Given the description of an element on the screen output the (x, y) to click on. 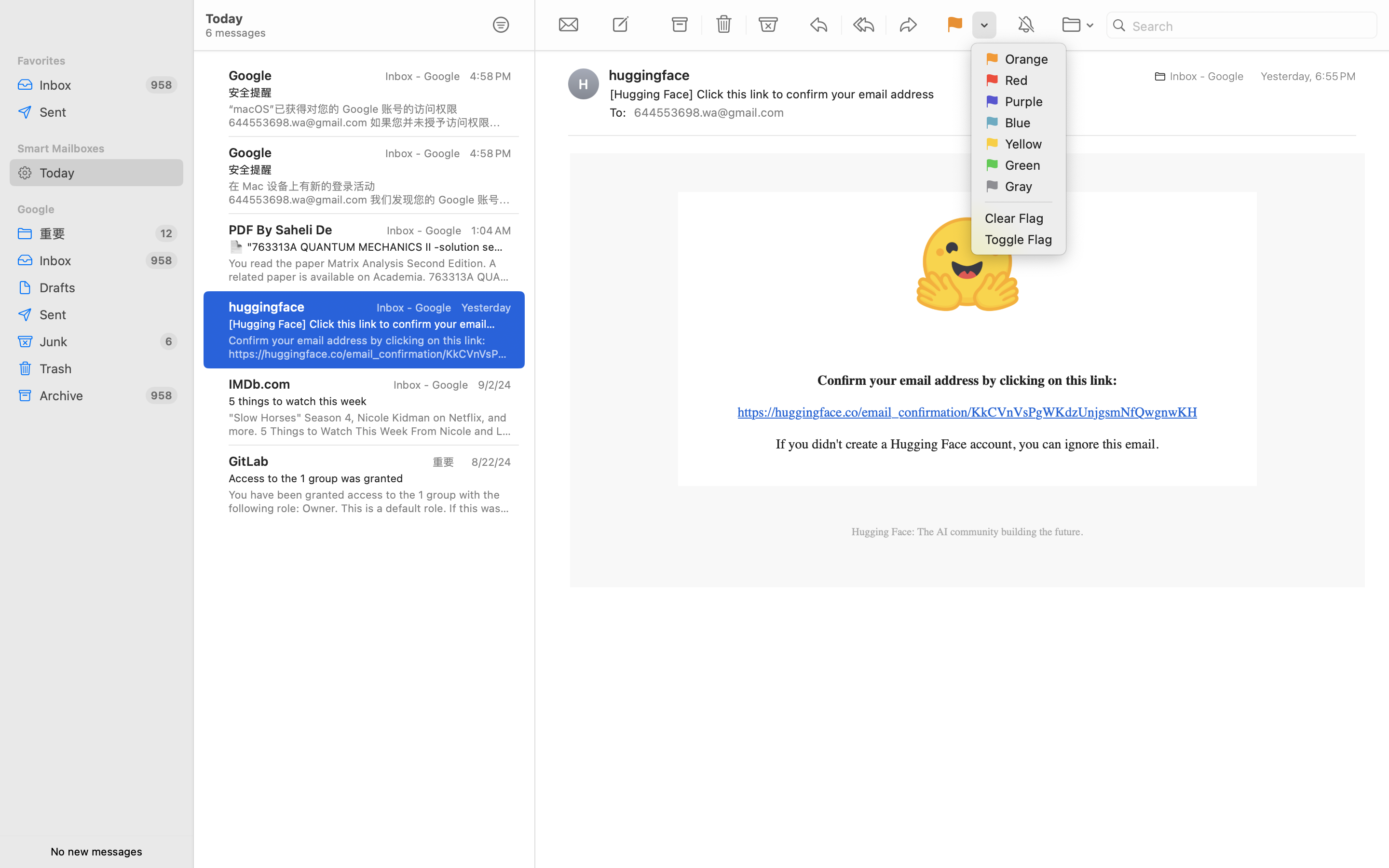
GitLab Element type: AXStaticText (248, 460)
Junk Element type: AXStaticText (95, 341)
Yesterday, 6:55 PM Element type: AXStaticText (1308, 75)
IMDb.com Element type: AXStaticText (259, 383)
8/22/24 Element type: AXStaticText (490, 461)
